Given the description of an element on the screen output the (x, y) to click on. 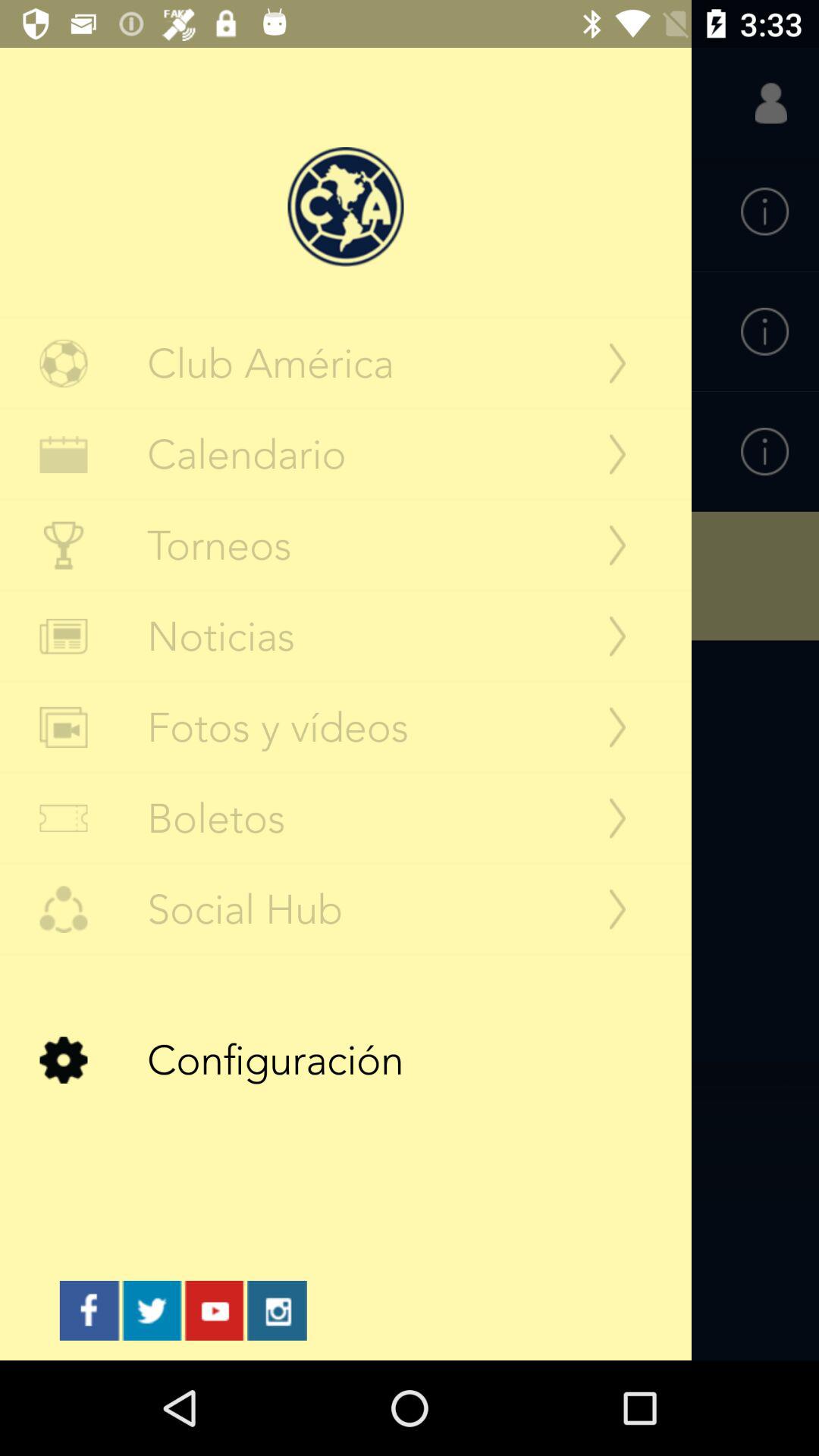
select the icon text beside boletos (63, 818)
click on arrow which is next to boletos (617, 818)
click the button below the human icon on the web page (764, 211)
click the button on the right next to the club america button on the web page (617, 363)
